Given the description of an element on the screen output the (x, y) to click on. 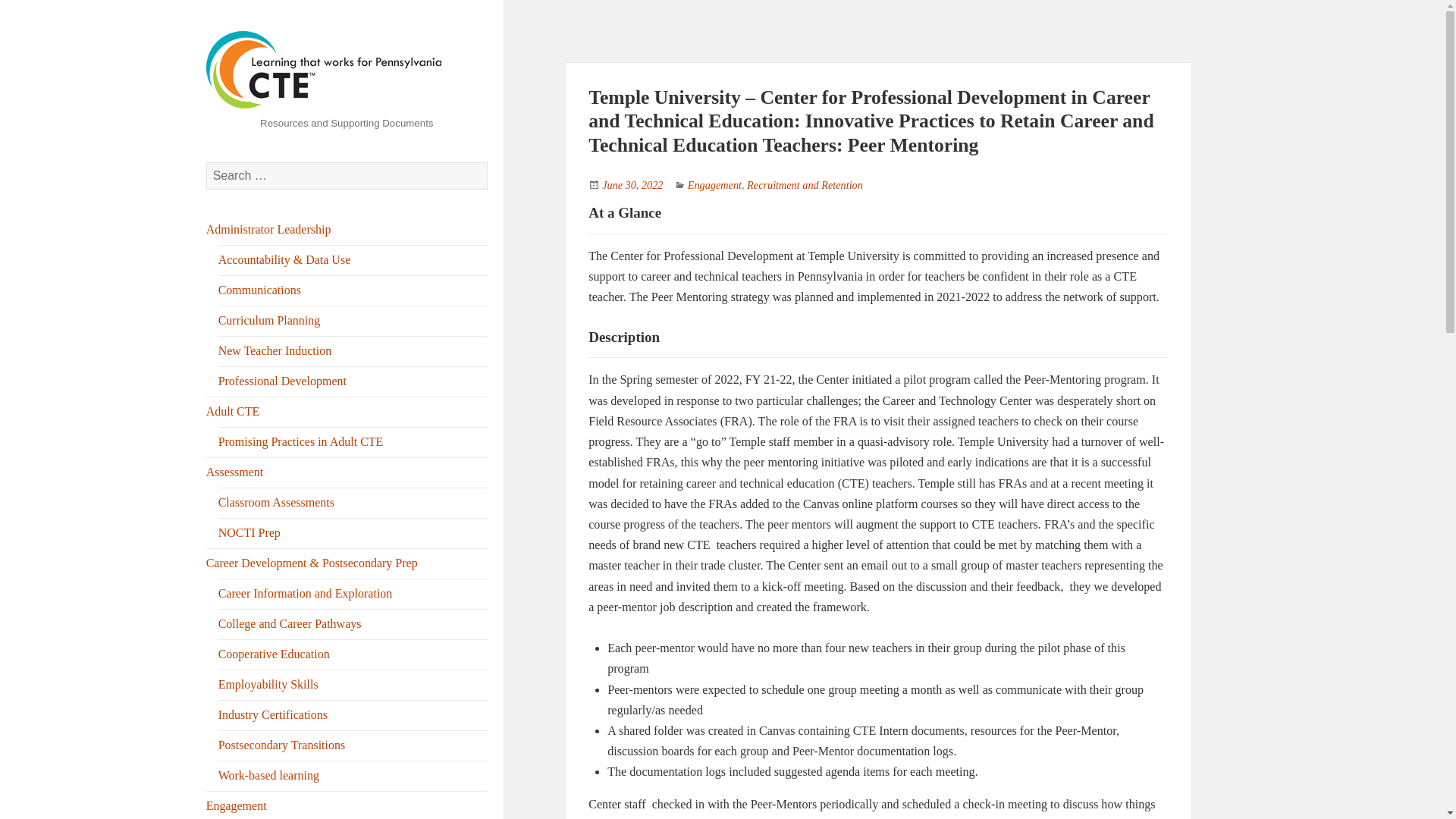
NOCTI Prep (249, 532)
Cooperative Education (274, 653)
Adult CTE (233, 410)
Curriculum Planning (269, 319)
Promising Practices in Adult CTE (301, 440)
Communications (259, 289)
Employability Skills (268, 684)
Professional Development (282, 380)
